Given the description of an element on the screen output the (x, y) to click on. 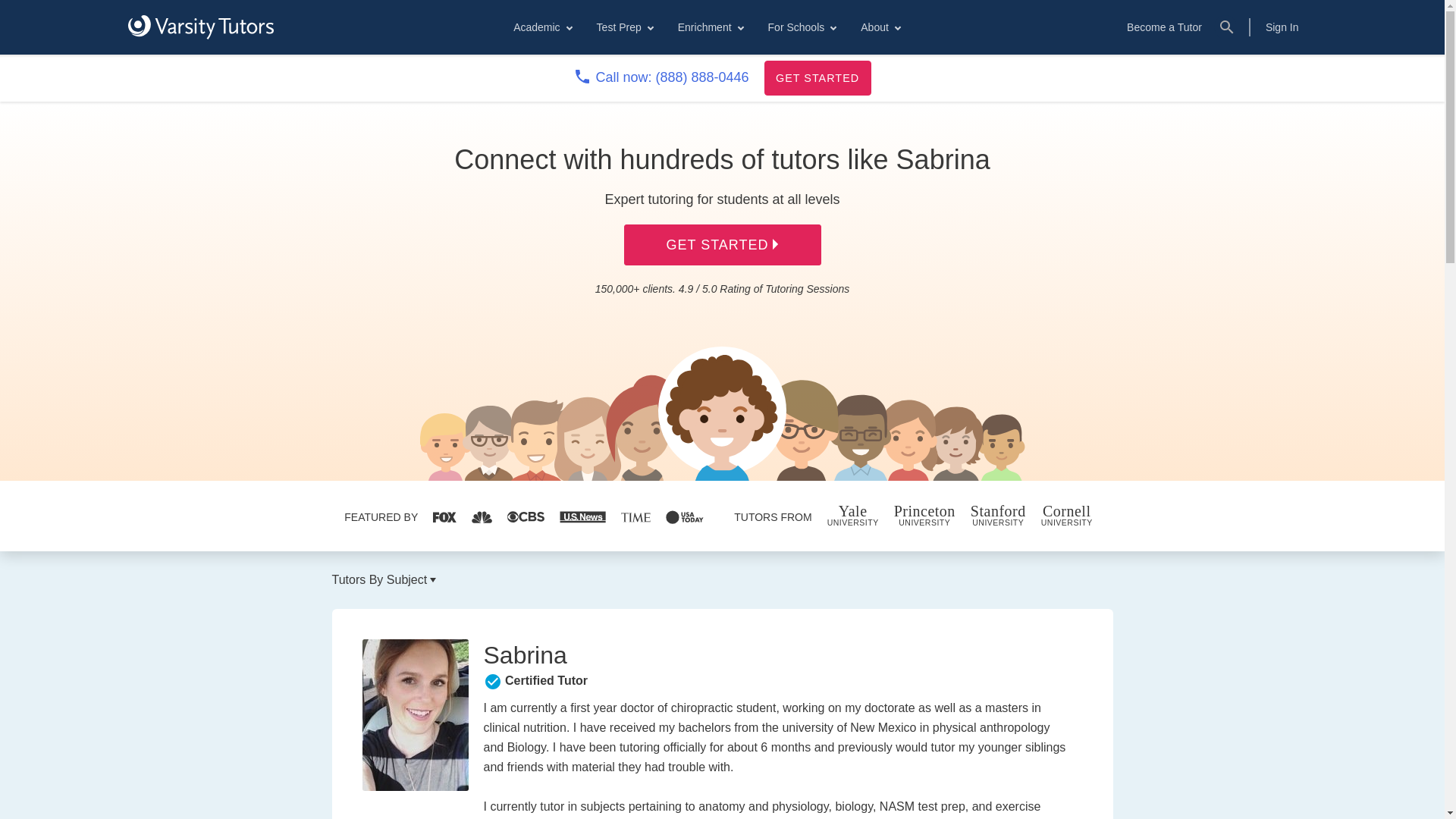
Academic (541, 27)
Varsity Tutors (200, 26)
Varsity Tutors (200, 27)
GET STARTED (817, 77)
